Given the description of an element on the screen output the (x, y) to click on. 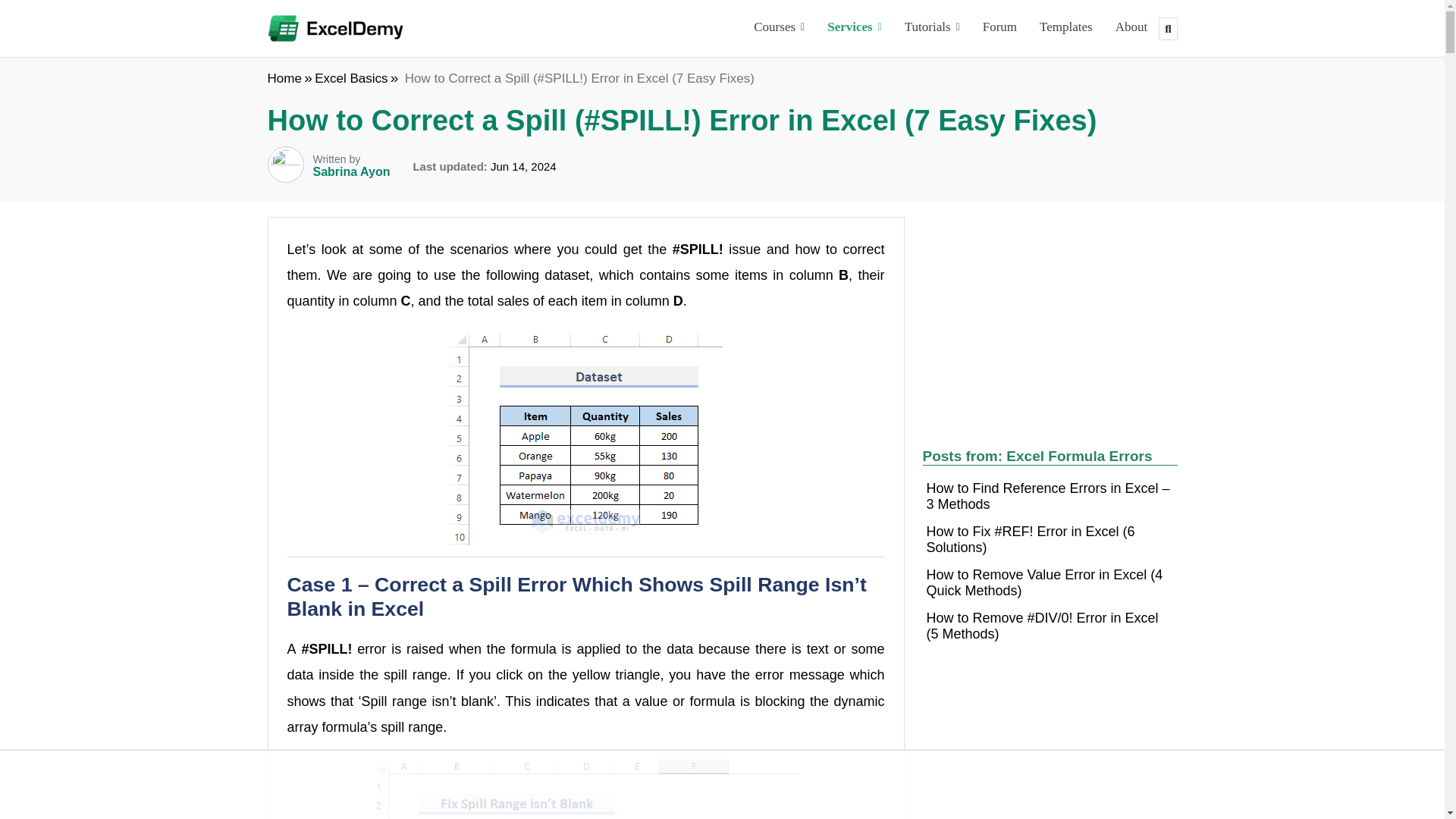
Tutorials (932, 28)
Sabrina Ayon (351, 171)
Courses (778, 28)
Home (283, 78)
Forum (999, 28)
Services (854, 28)
Templates (1065, 28)
About (1130, 28)
Excel Basics (350, 78)
